Given the description of an element on the screen output the (x, y) to click on. 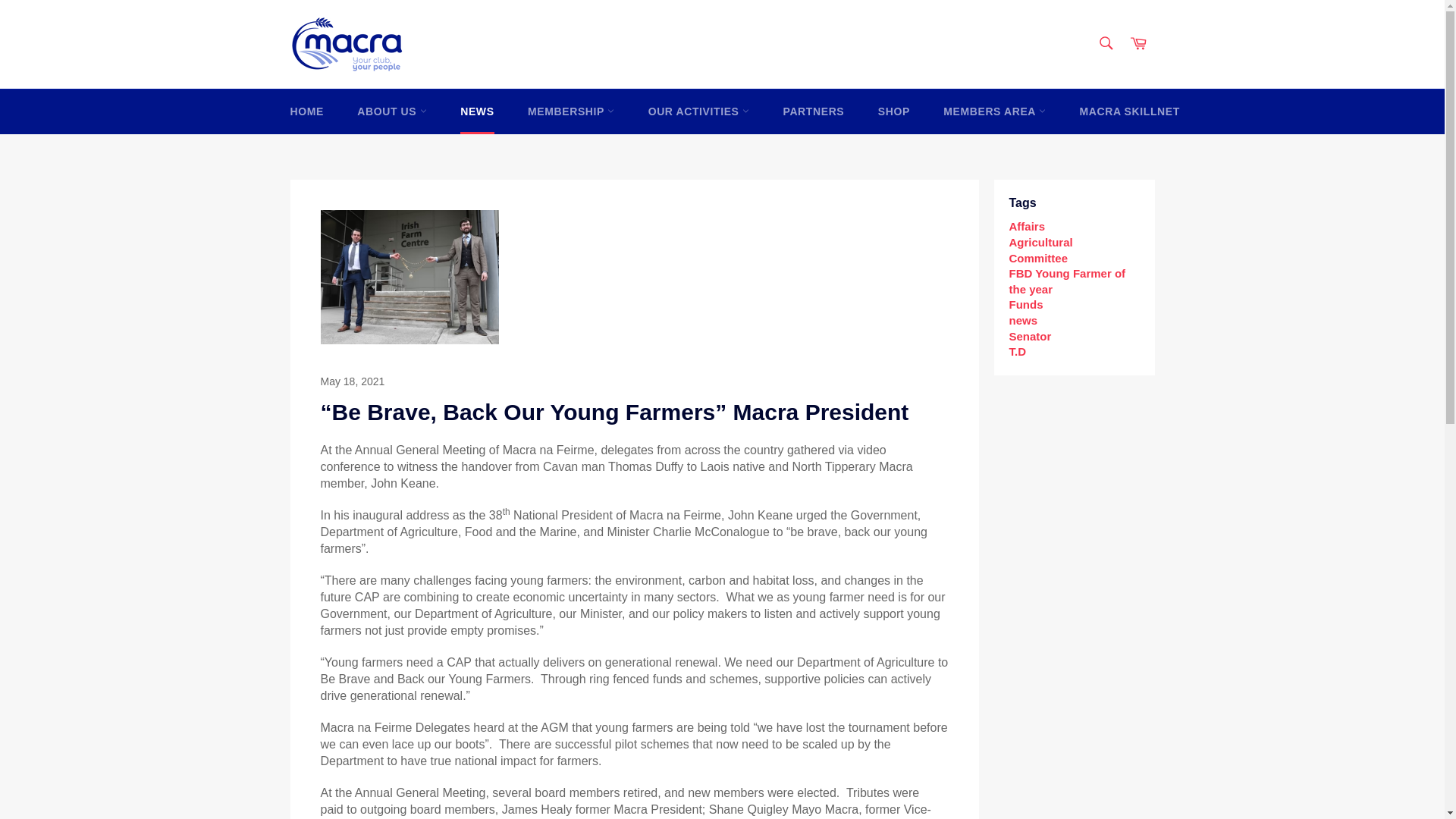
Show articles tagged Senator (1030, 336)
Show articles tagged news (1022, 319)
Show articles tagged Affairs (1027, 226)
Show articles tagged FBD Young Farmer of the year (1067, 280)
Show articles tagged Committee (1038, 257)
Show articles tagged Agricultural (1040, 241)
Show articles tagged Funds (1025, 304)
Show articles tagged T.D (1017, 350)
